Given the description of an element on the screen output the (x, y) to click on. 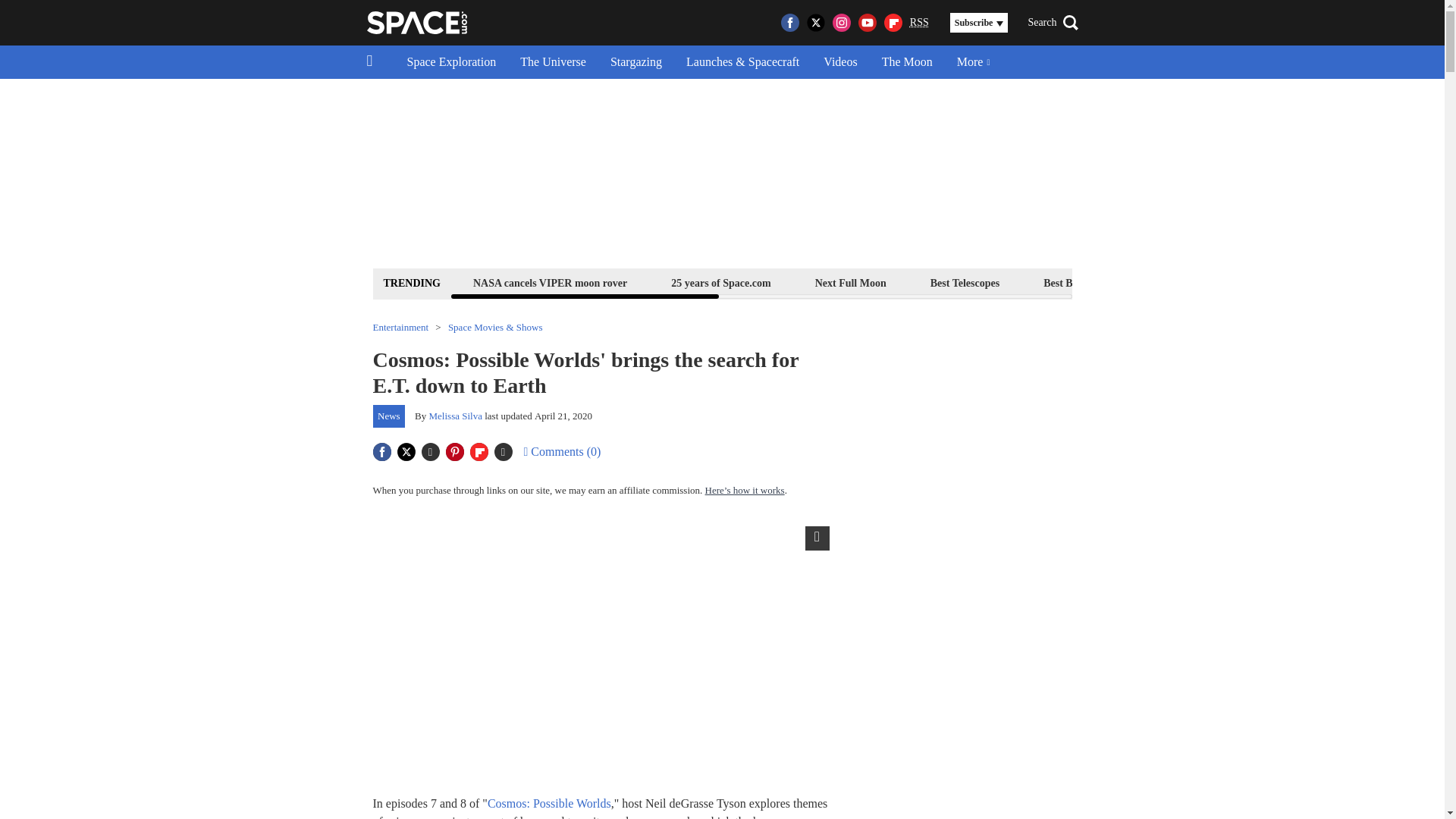
The Moon (906, 61)
RSS (919, 22)
NASA cancels VIPER moon rover (549, 282)
Space Exploration (451, 61)
25 years of Space.com (720, 282)
Best Telescopes (964, 282)
Best Star Projectors (1204, 282)
Videos (839, 61)
The Universe (553, 61)
Space Calendar (1329, 282)
Stargazing (636, 61)
Best Binoculars (1078, 282)
Next Full Moon (850, 282)
Really Simple Syndication (919, 21)
